Given the description of an element on the screen output the (x, y) to click on. 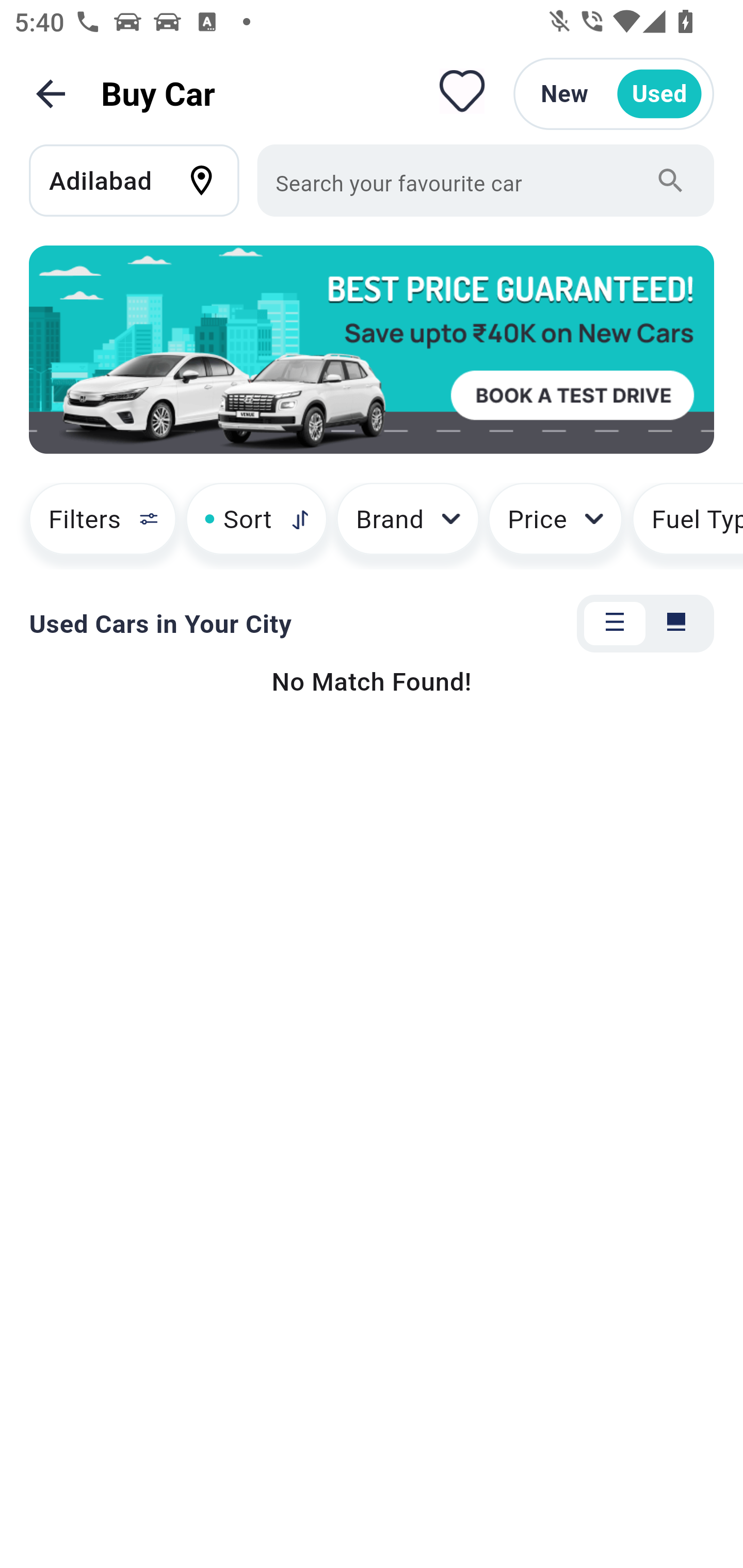
Back (50, 93)
New (564, 93)
Used (659, 93)
Adilabad (142, 180)
Filters (93, 525)
Sort (255, 525)
Brand (407, 525)
Price (555, 525)
Fuel Type (687, 525)
Tab 1 of 2 (614, 624)
Tab 2 of 2 (675, 624)
